Given the description of an element on the screen output the (x, y) to click on. 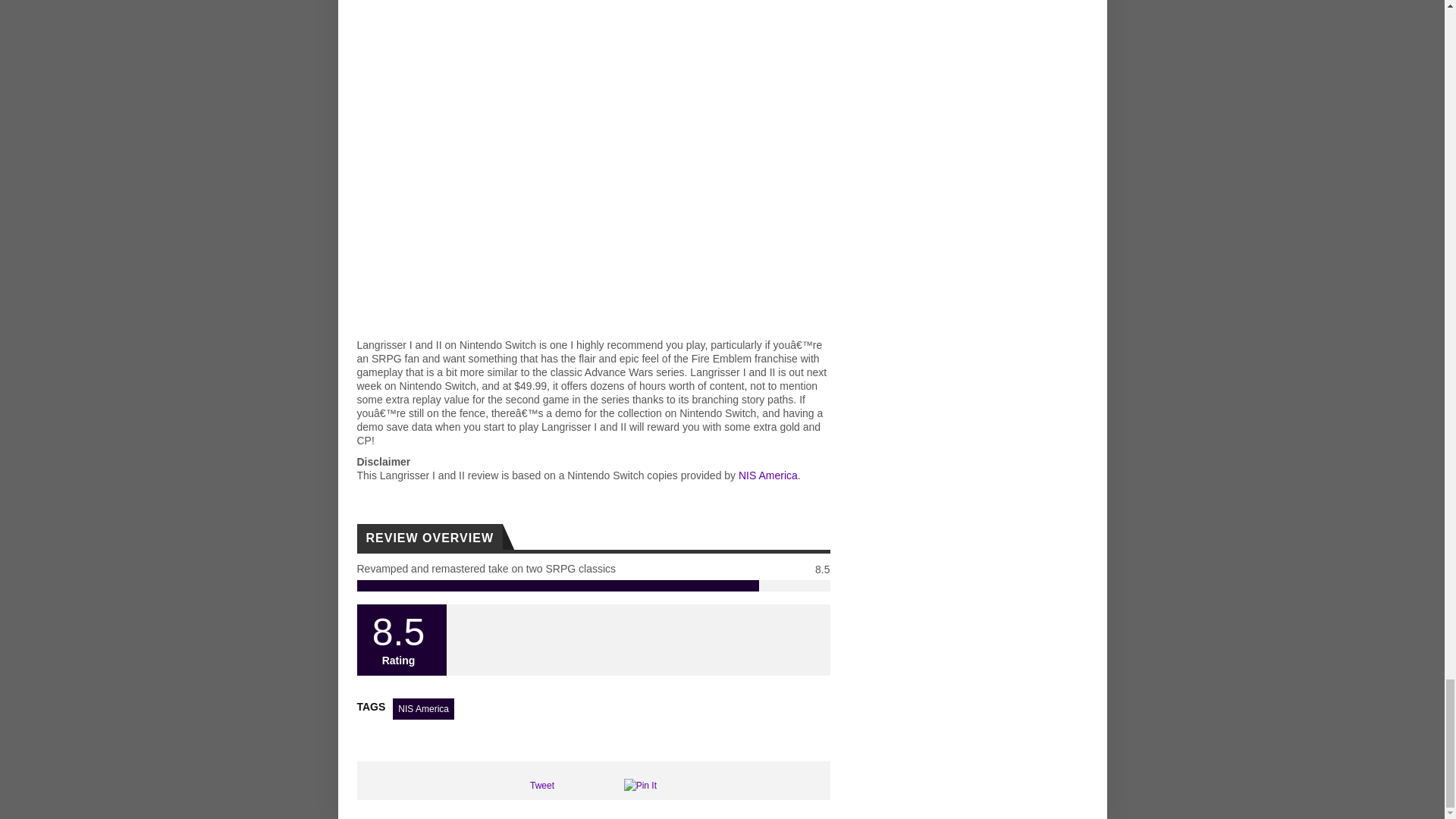
NIS America (767, 475)
NIS America (423, 708)
Pin It (640, 785)
